Given the description of an element on the screen output the (x, y) to click on. 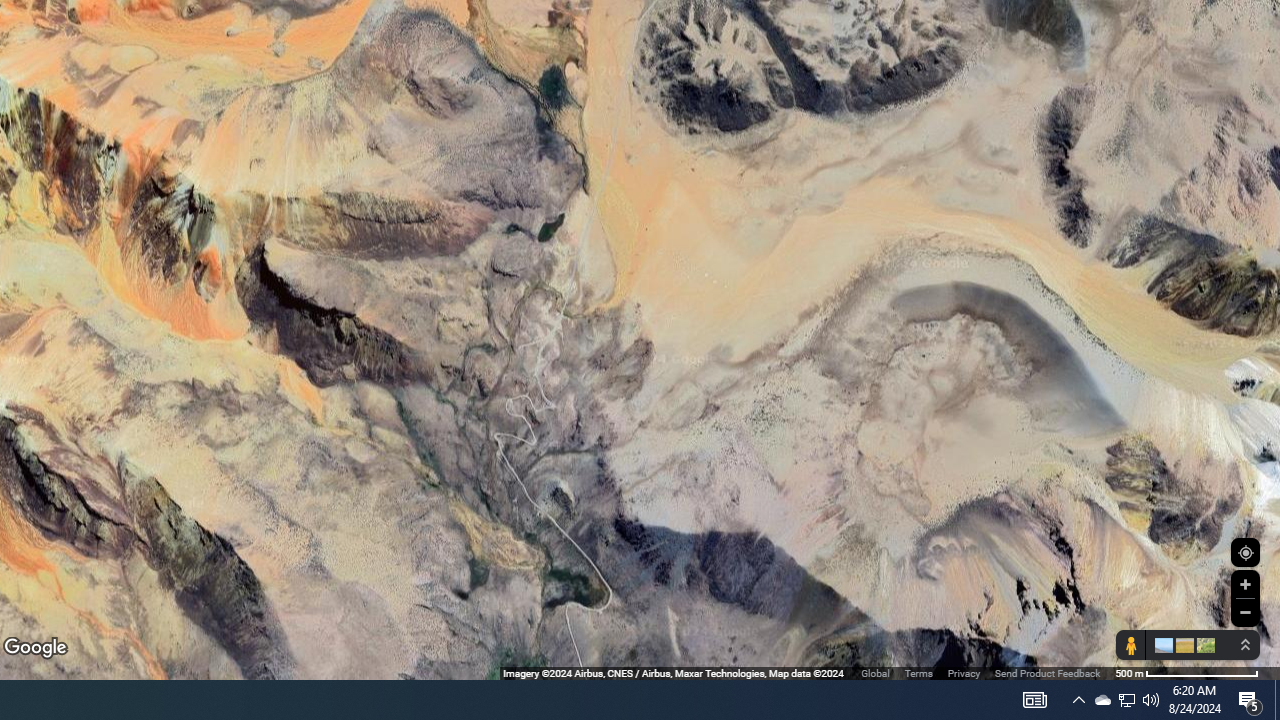
Show Street View coverage (1130, 645)
500 m (1186, 672)
Show imagery (1202, 645)
Privacy (963, 672)
Zoom out (1245, 612)
Global (875, 672)
Show Your Location (1245, 552)
Zoom in (1245, 584)
Send Product Feedback (1047, 672)
Terms (918, 672)
